Given the description of an element on the screen output the (x, y) to click on. 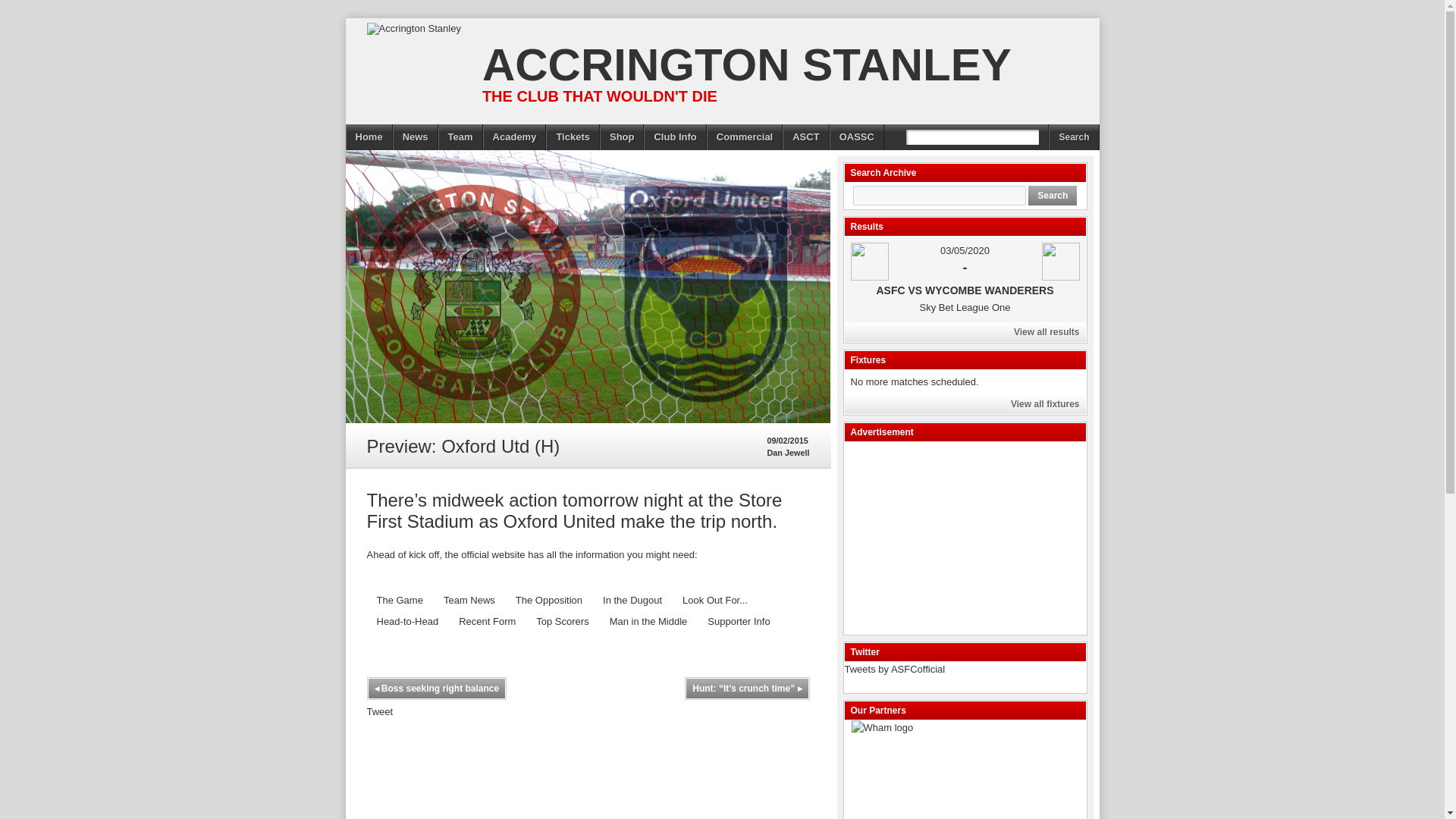
Commercial (744, 136)
Twitter (357, 152)
ASFC (869, 261)
News (415, 136)
Team (460, 136)
Club Info (674, 136)
Facebook (324, 152)
Tickets (572, 136)
Search (1073, 136)
Search (1052, 195)
Posts by Dan Jewell (788, 452)
ACCRINGTON STANLEY (740, 64)
Shop (621, 136)
Academy (514, 136)
Wycombe Wanderers (1061, 261)
